Given the description of an element on the screen output the (x, y) to click on. 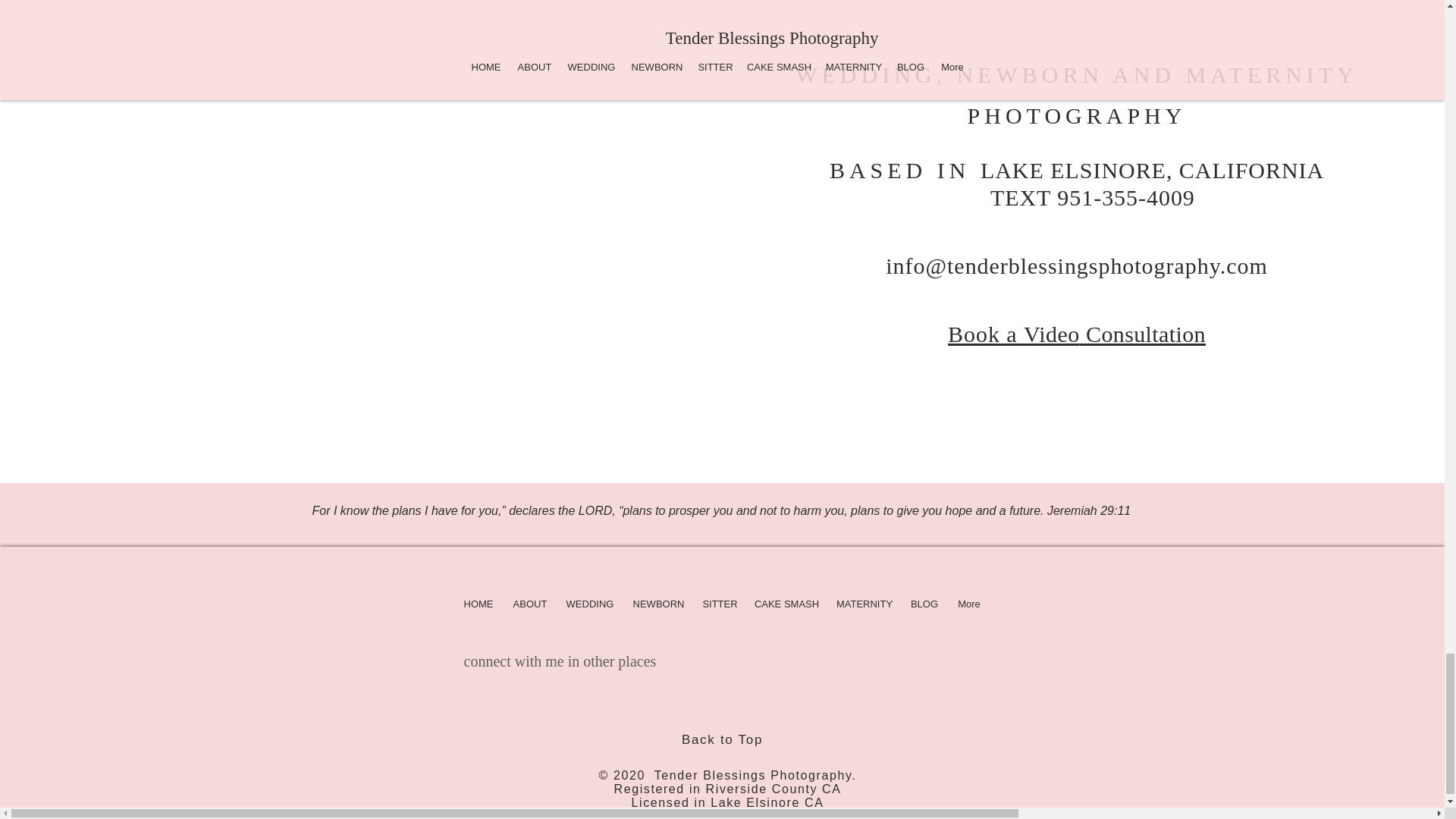
ABOUT (529, 604)
NEWBORN (658, 604)
CAKE SMASH (786, 604)
Book a Video Consultation (1076, 333)
WEDDING (590, 604)
MATERNITY (863, 604)
BLOG (924, 604)
SITTER (719, 604)
HOME (478, 604)
